Given the description of an element on the screen output the (x, y) to click on. 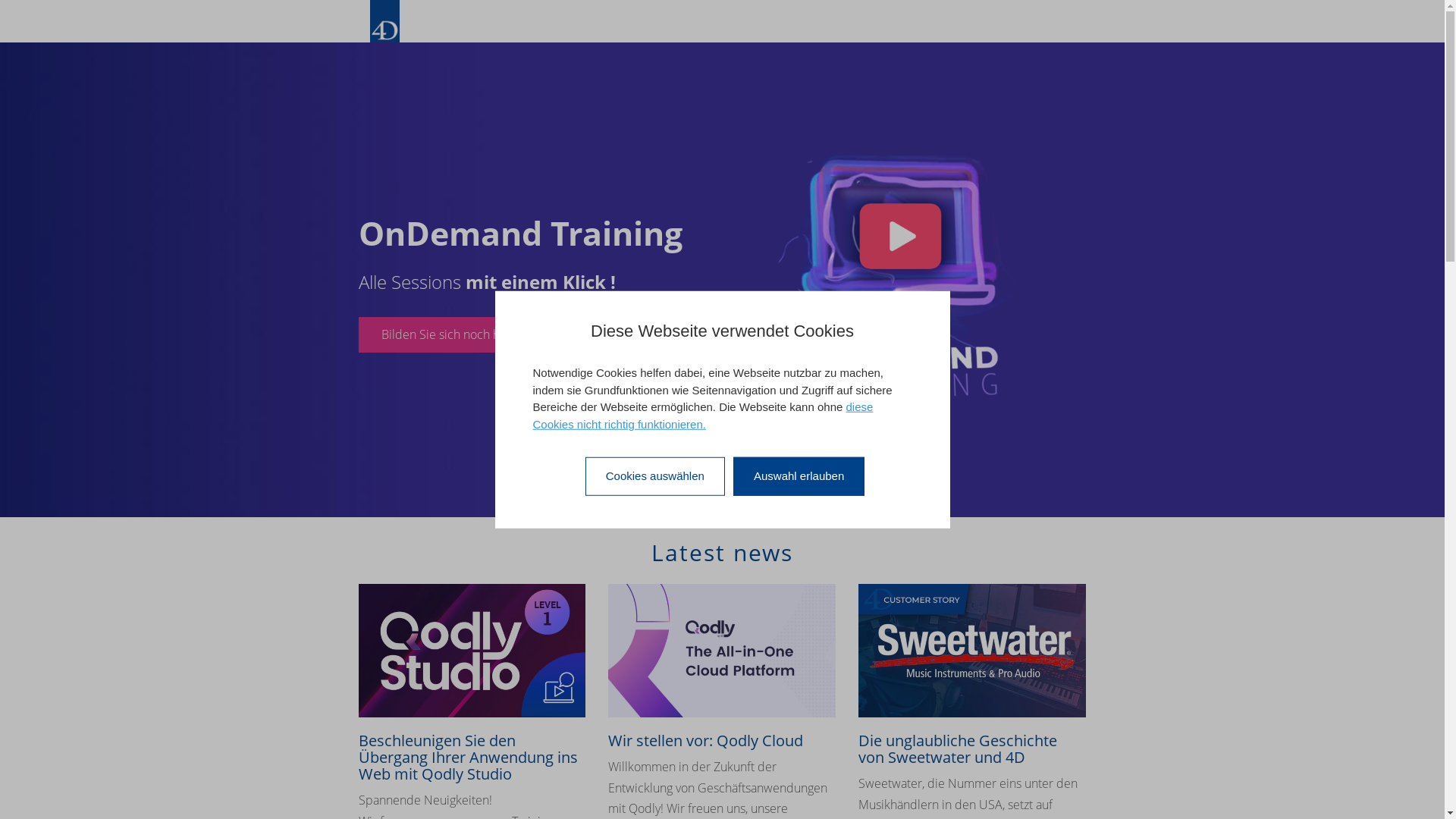
Home Element type: hover (385, 21)
diese Cookies nicht richtig funktionieren. Element type: text (702, 415)
Skip to main content Element type: text (52, 0)
Auswahl erlauben Element type: text (798, 476)
Wir stellen vor: Qodly Cloud Element type: hover (721, 650)
Die unglaubliche Geschichte von Sweetwater und 4D Element type: hover (971, 650)
